Given the description of an element on the screen output the (x, y) to click on. 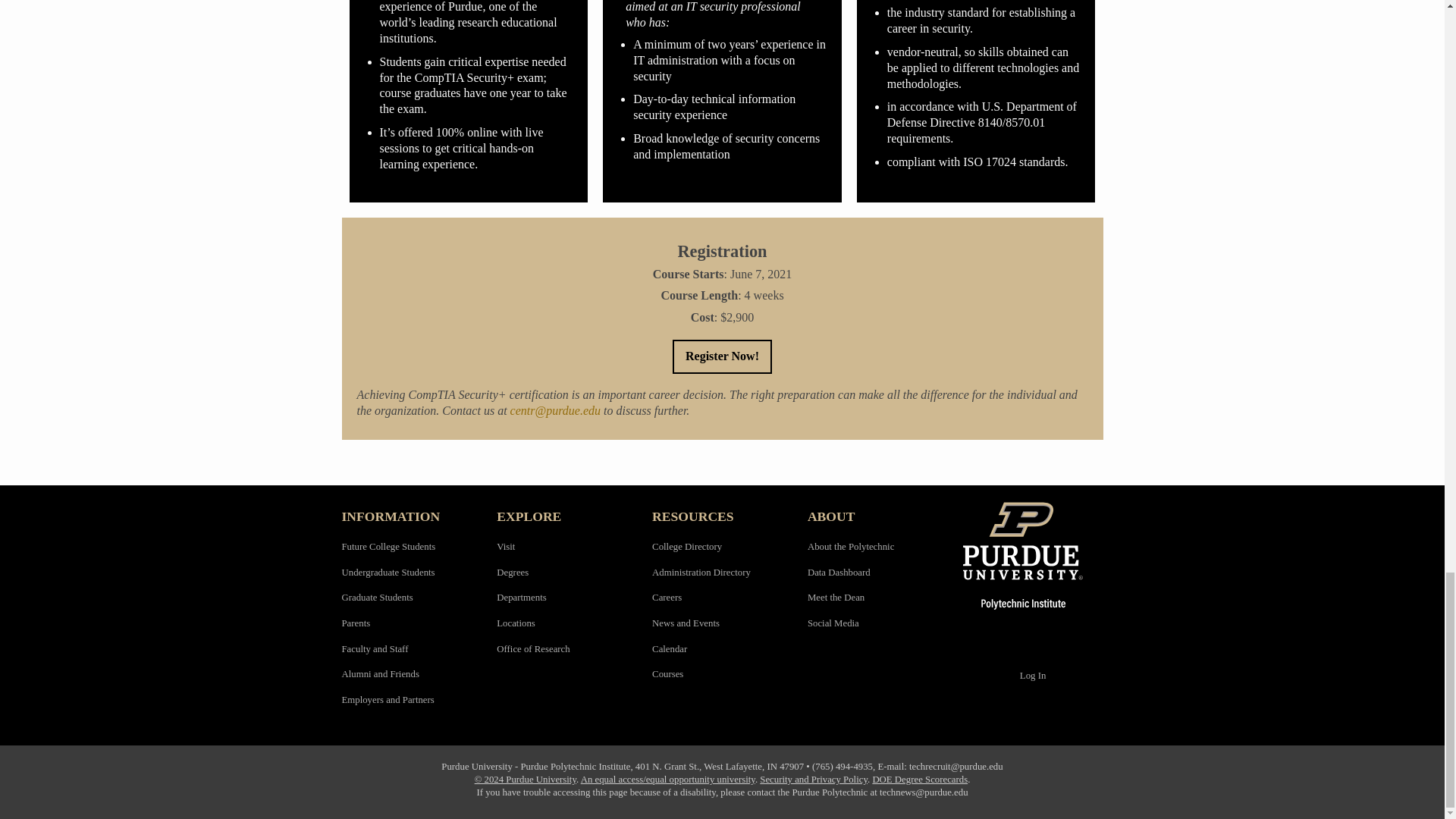
Register Now! (721, 355)
Future College Students (387, 546)
Purdue Polytechnic Institute (1032, 555)
Undergraduate Students (386, 572)
Parents (354, 623)
Graduate Students (376, 597)
